Given the description of an element on the screen output the (x, y) to click on. 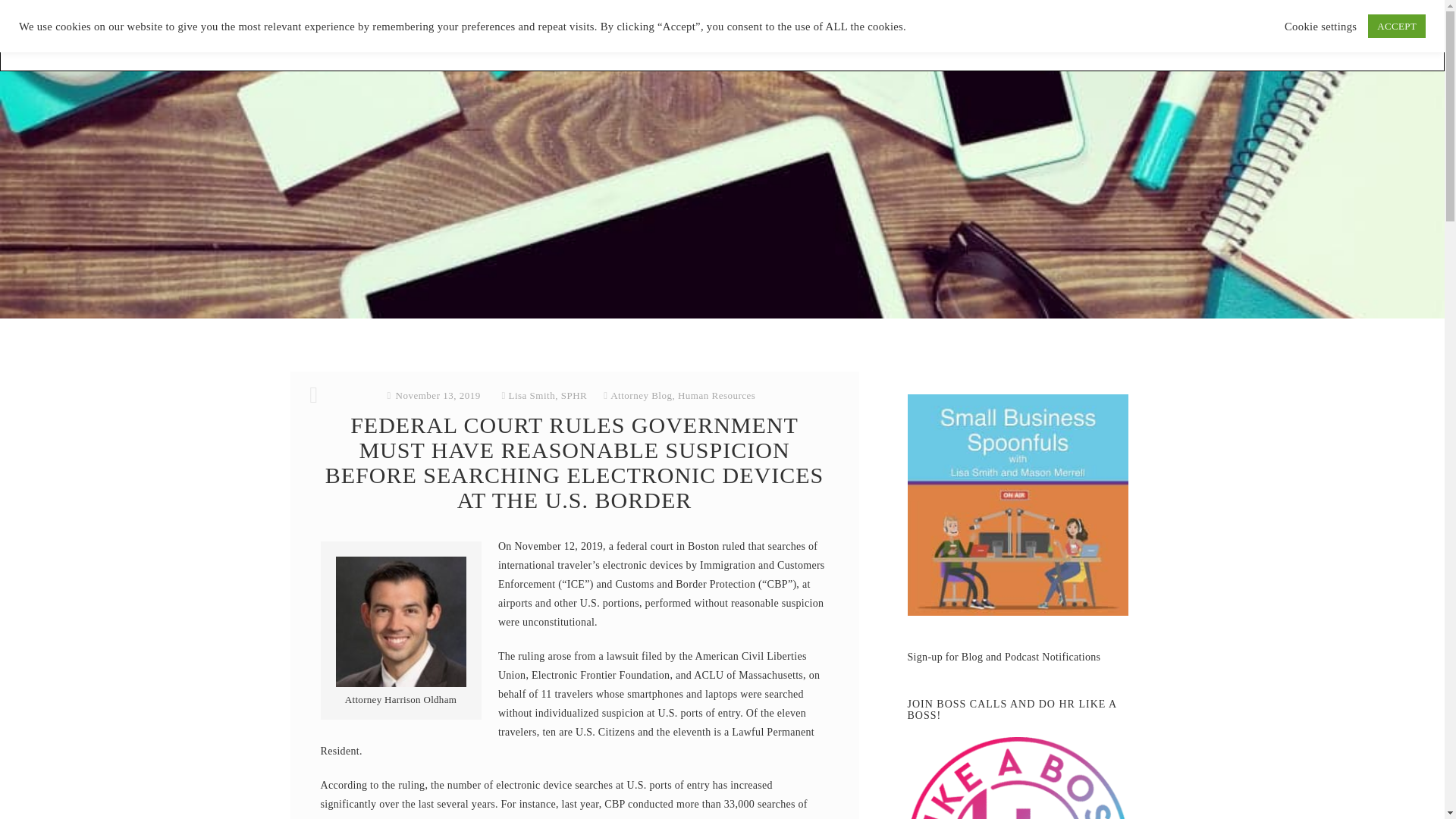
LAUNCH (936, 35)
Join Boss Calls and Do HR like a Boss! (1017, 778)
CONTACT (1005, 35)
DEMO VIDEOS (854, 35)
REVIEWS (720, 35)
